Given the description of an element on the screen output the (x, y) to click on. 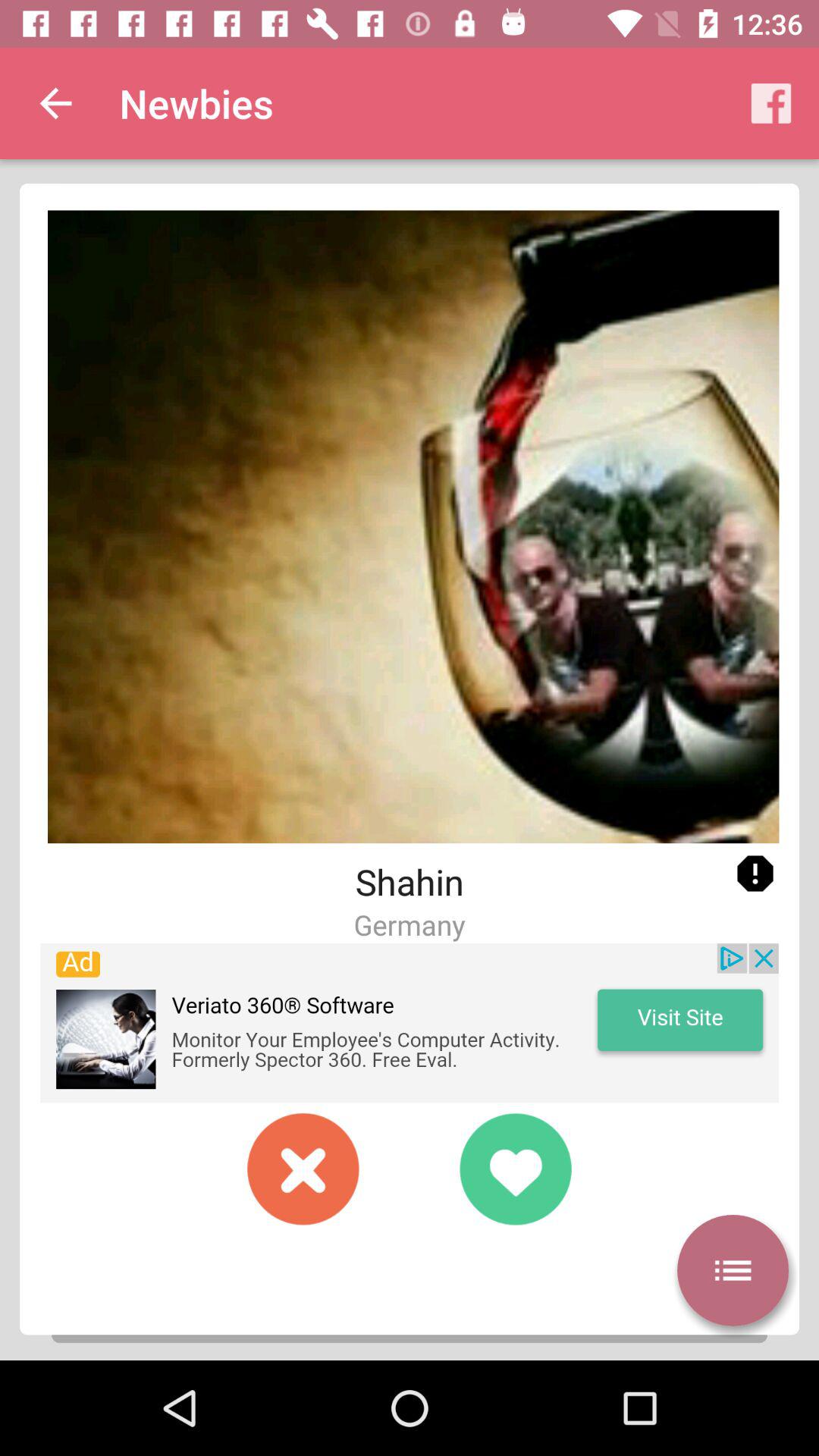
select option (733, 1270)
